Given the description of an element on the screen output the (x, y) to click on. 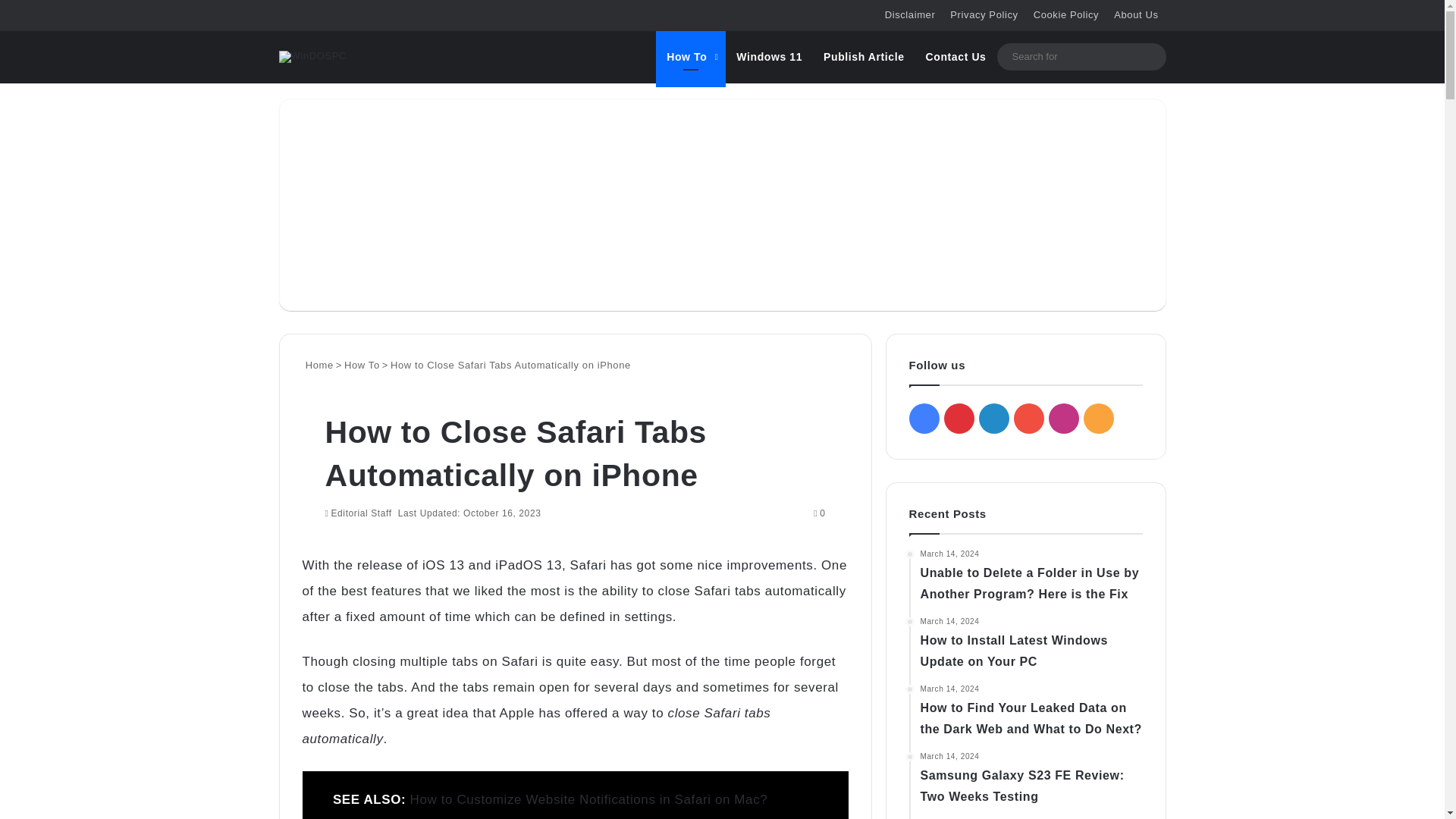
Reddit (312, 544)
Messenger (319, 544)
Cookie Policy (1066, 15)
Messenger (315, 544)
Editorial Staff (357, 512)
X (306, 544)
Editorial Staff (357, 512)
Messenger (315, 544)
Disclaimer (910, 15)
Facebook (302, 544)
Search for (1150, 56)
WhatsApp (322, 544)
WhatsApp (322, 544)
Messenger (319, 544)
Publish Article (863, 56)
